Given the description of an element on the screen output the (x, y) to click on. 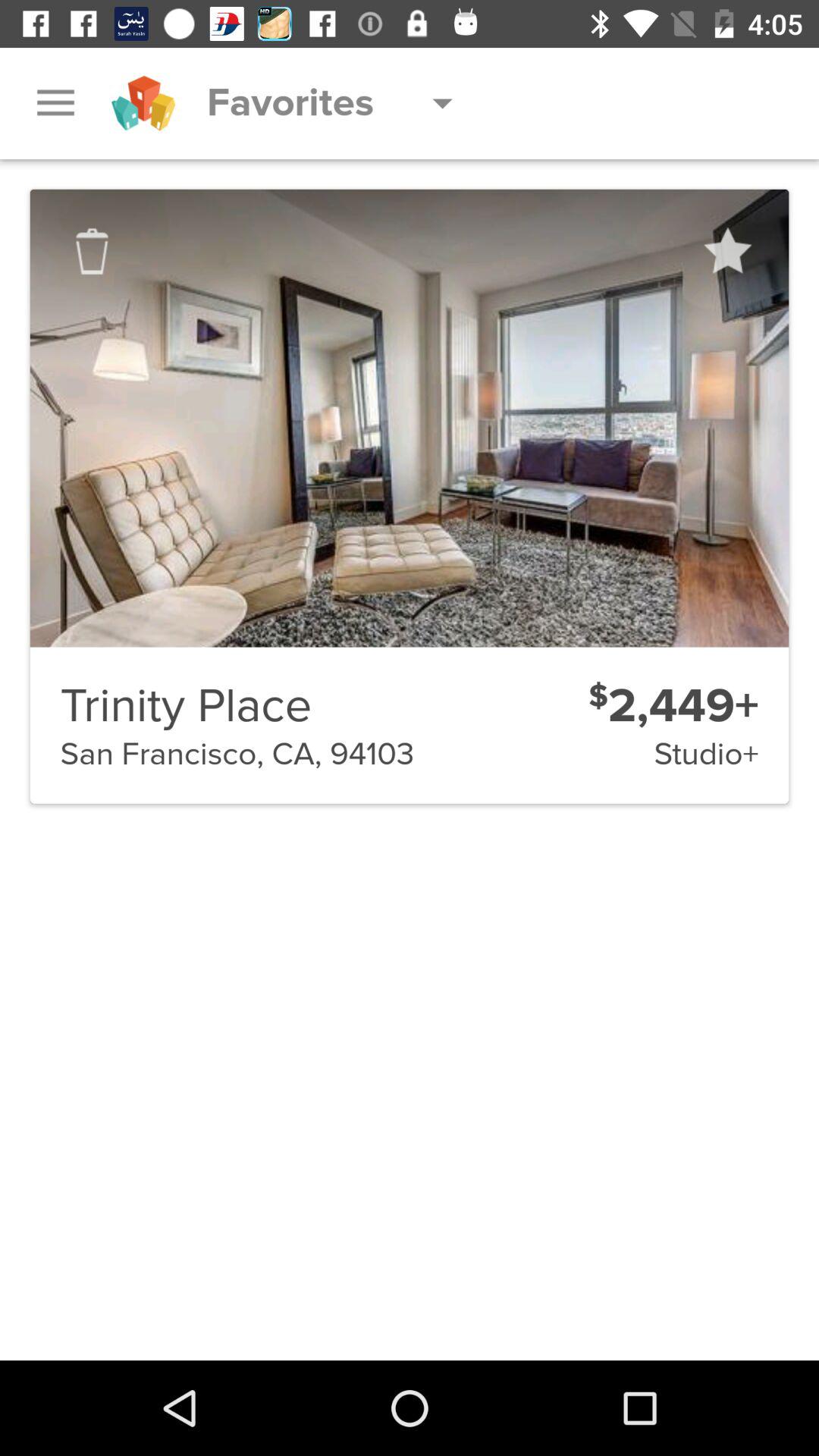
favorite (726, 251)
